Given the description of an element on the screen output the (x, y) to click on. 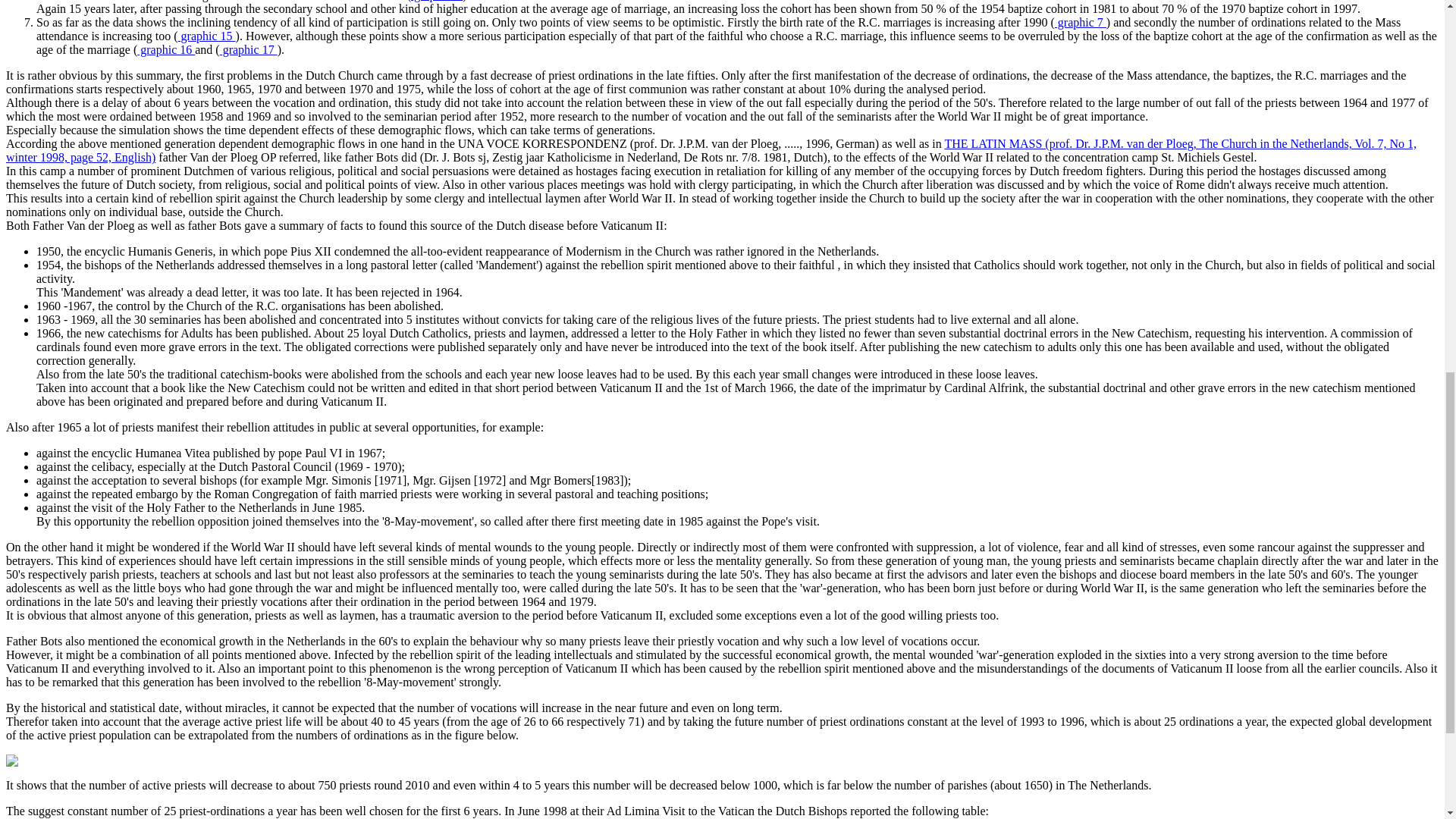
graphic 15 (206, 35)
graphic 16 (165, 49)
graphic 9 (436, 0)
graphic 7 (1080, 21)
